Given the description of an element on the screen output the (x, y) to click on. 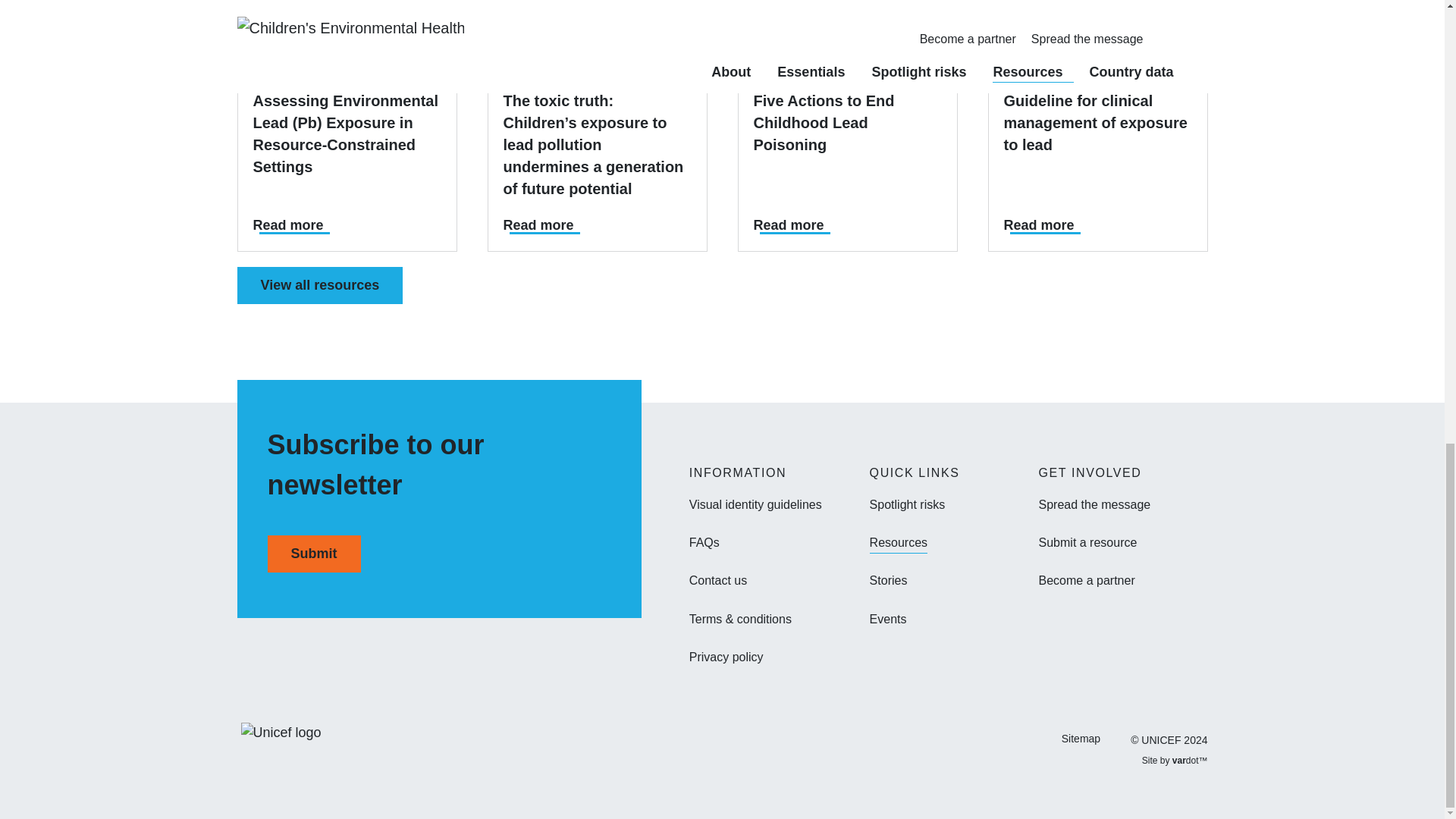
Read more (288, 224)
